Given the description of an element on the screen output the (x, y) to click on. 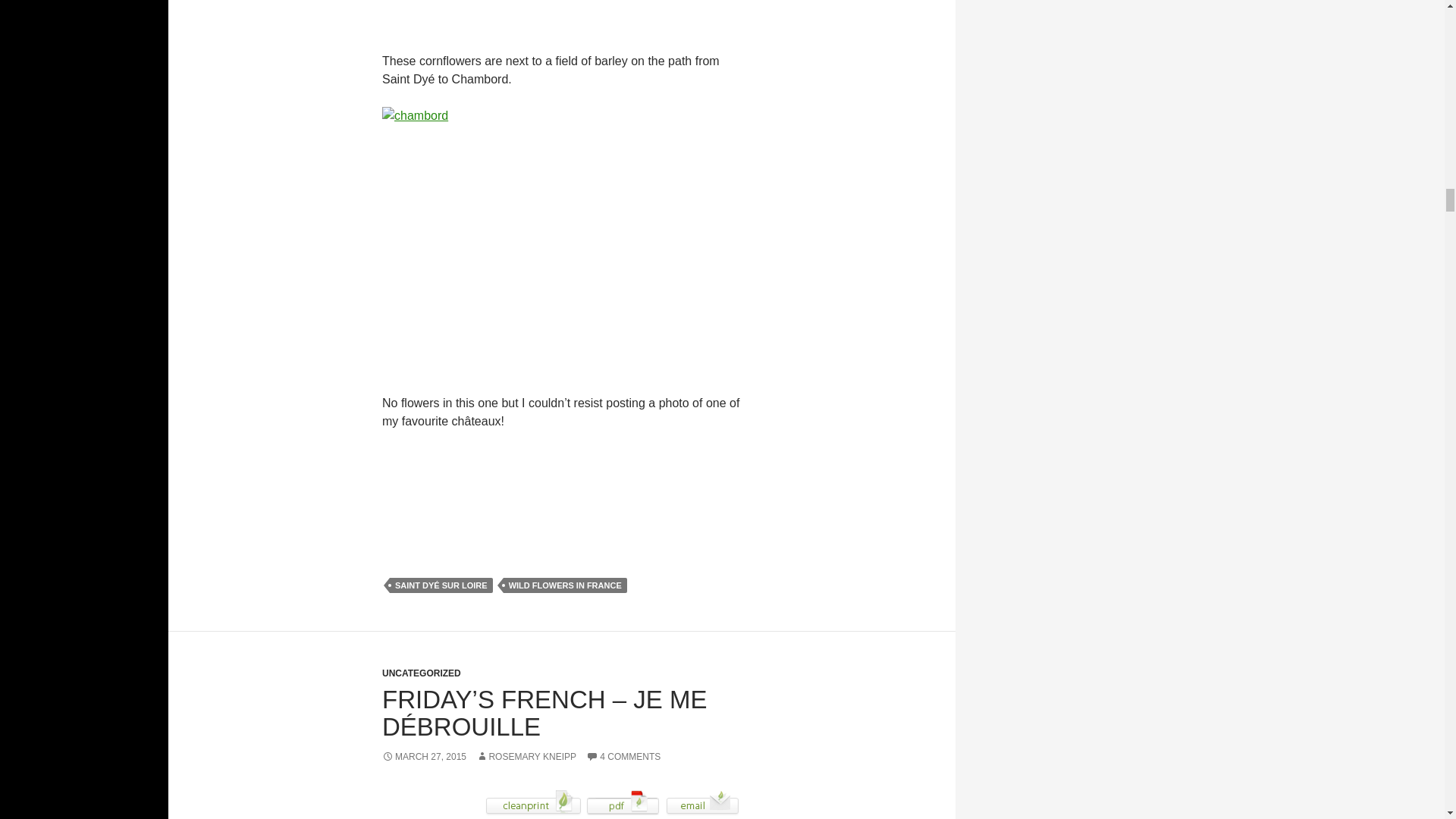
PDF page (623, 801)
Email page (702, 801)
Print page (533, 801)
